Given the description of an element on the screen output the (x, y) to click on. 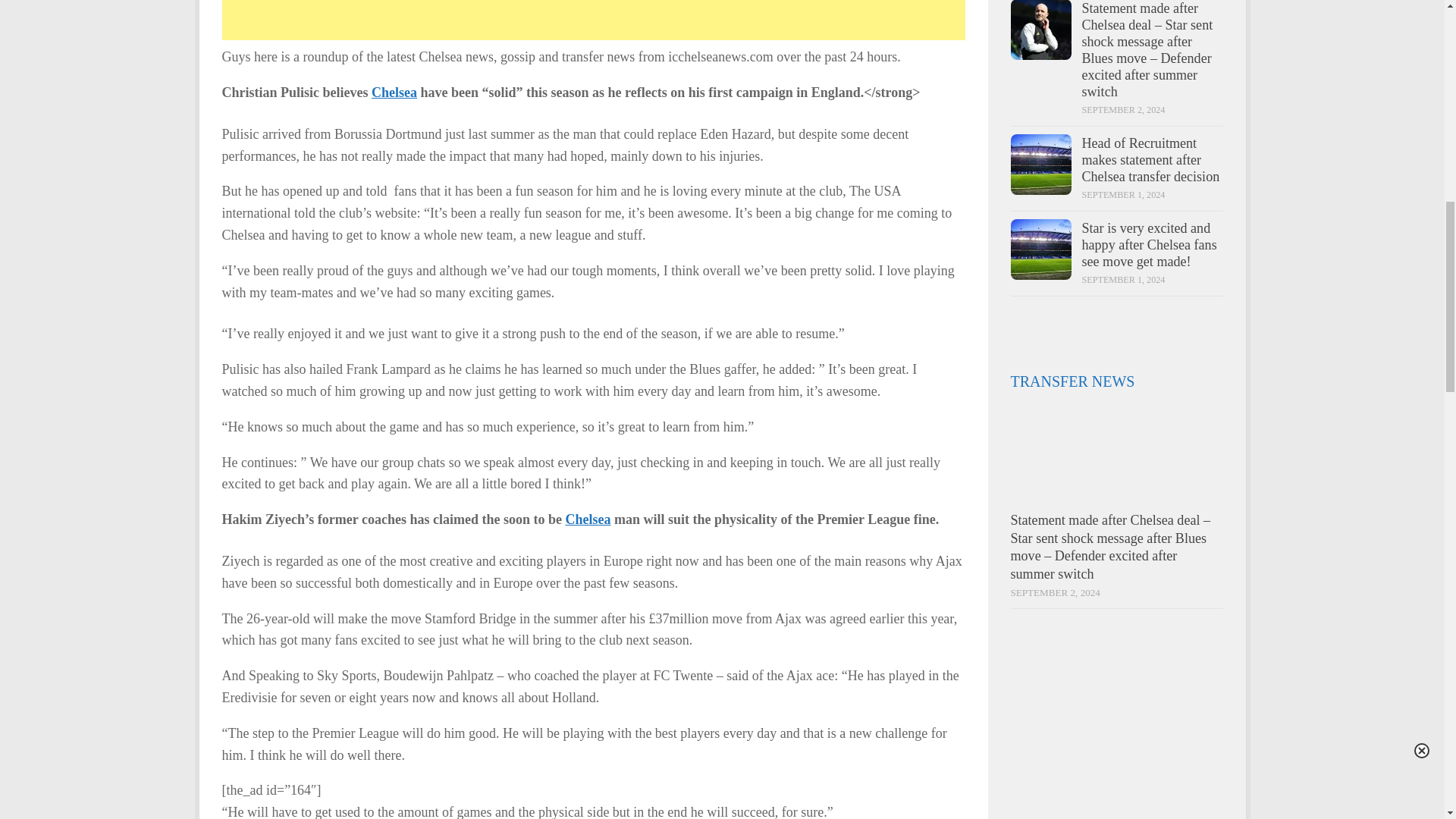
Advertisement (592, 20)
Chelsea (587, 519)
Chelsea (393, 92)
